Given the description of an element on the screen output the (x, y) to click on. 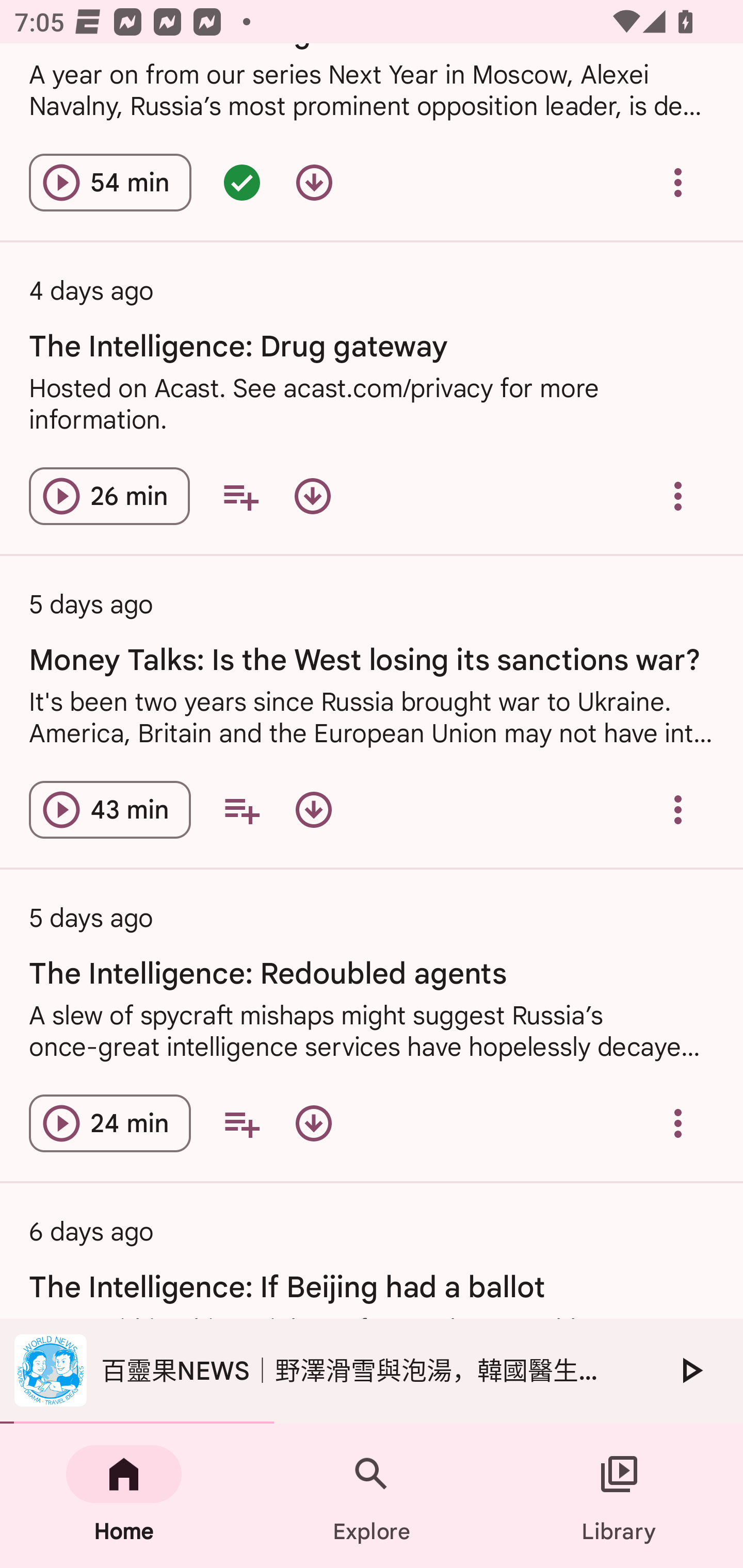
Episode queued - double tap for options (241, 182)
Download episode (313, 182)
Overflow menu (677, 182)
Play episode The Intelligence: Drug gateway 26 min (109, 496)
Add to your queue (240, 496)
Download episode (312, 496)
Overflow menu (677, 496)
Add to your queue (241, 809)
Download episode (313, 809)
Overflow menu (677, 809)
Add to your queue (241, 1123)
Download episode (313, 1123)
Overflow menu (677, 1123)
Play (690, 1370)
Explore (371, 1495)
Library (619, 1495)
